Given the description of an element on the screen output the (x, y) to click on. 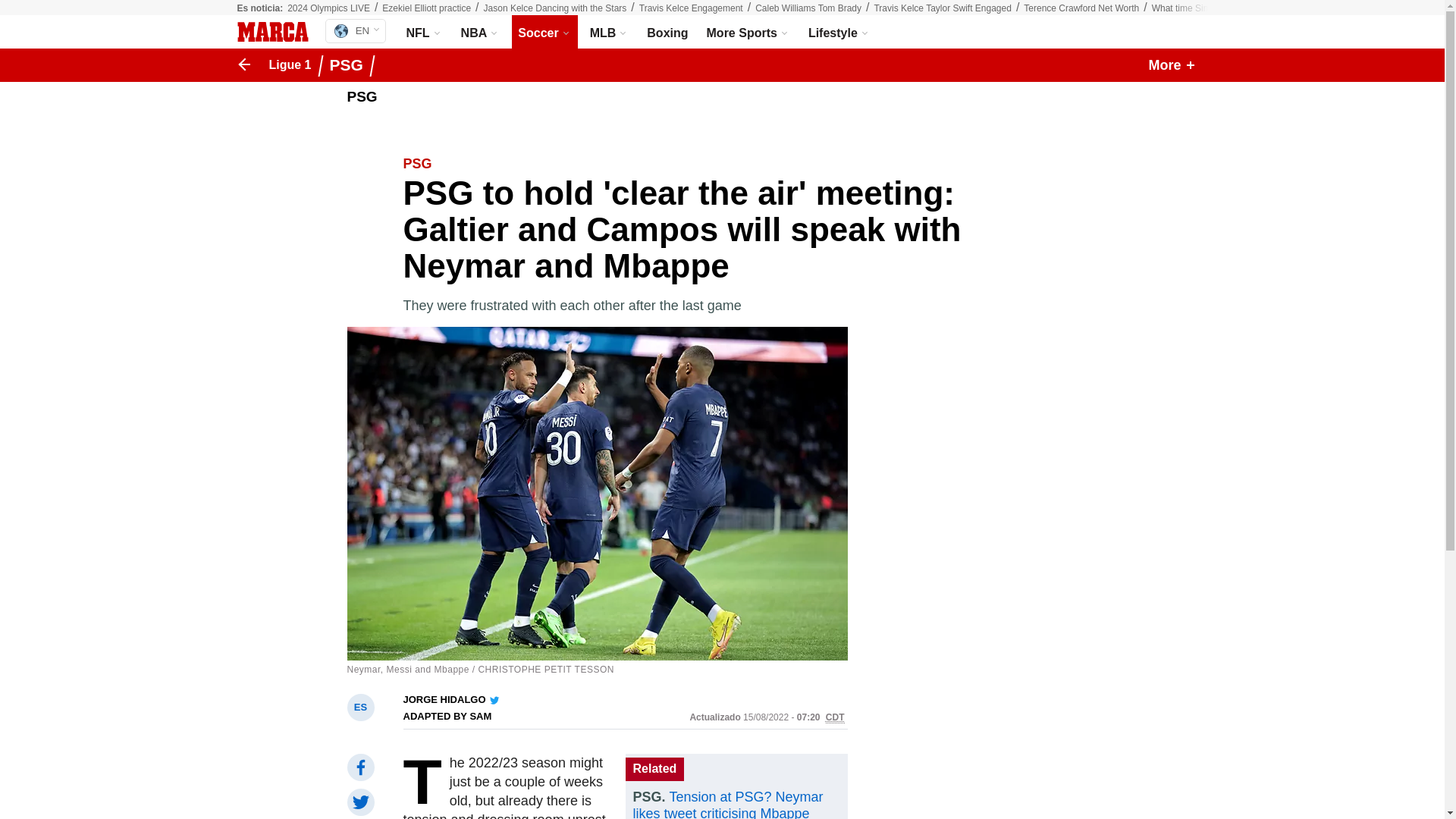
PSG (349, 64)
Central Daylight Time (834, 717)
Caleb Williams Tom Brady (808, 8)
Soccer (544, 31)
NFL (424, 31)
NBA (480, 31)
More Sports (748, 31)
Jason Kelce Dancing with the Stars (555, 8)
What time Simone Biles compete (1218, 8)
